Given the description of an element on the screen output the (x, y) to click on. 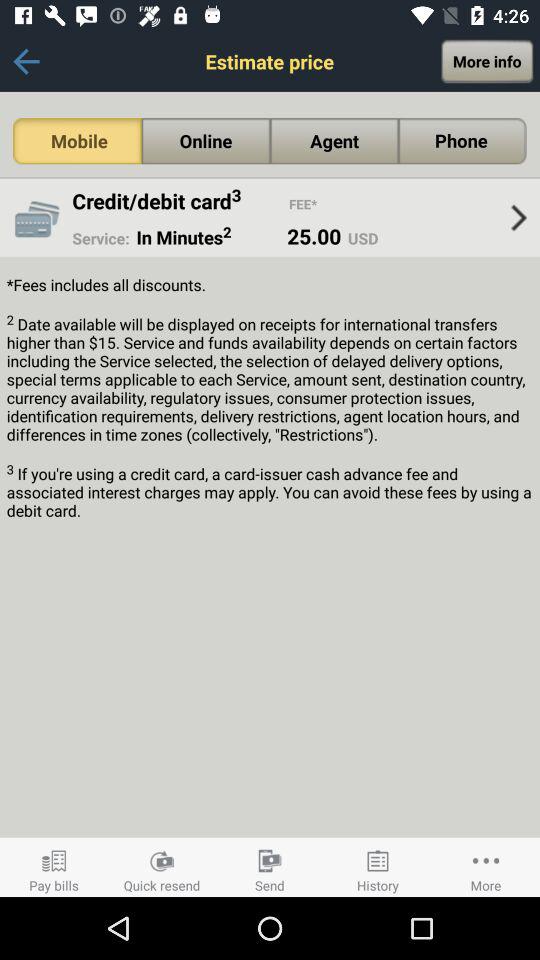
select app to the right of credit/debit card3 icon (303, 203)
